Given the description of an element on the screen output the (x, y) to click on. 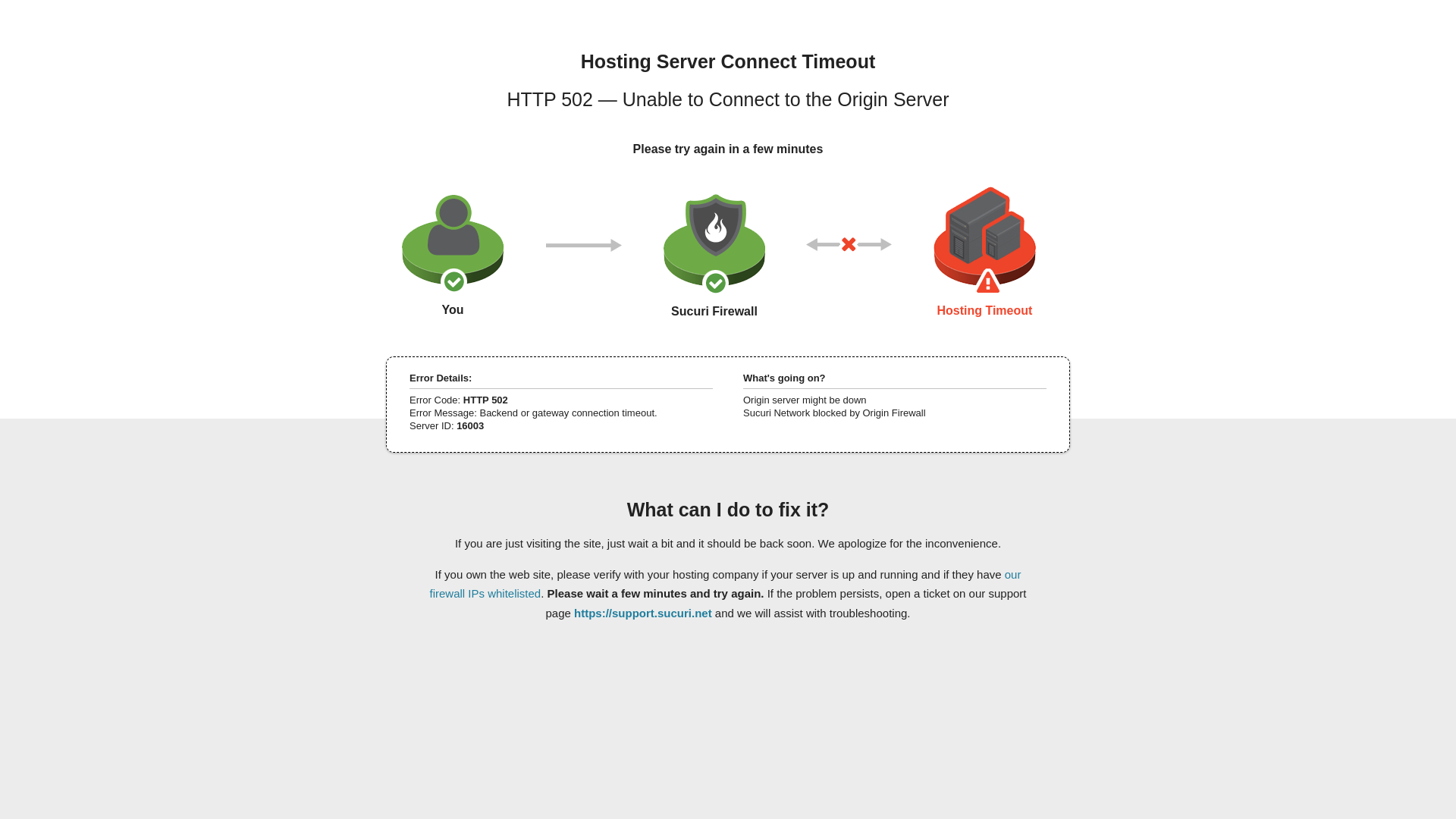
our firewall IPs whitelisted (724, 583)
